Given the description of an element on the screen output the (x, y) to click on. 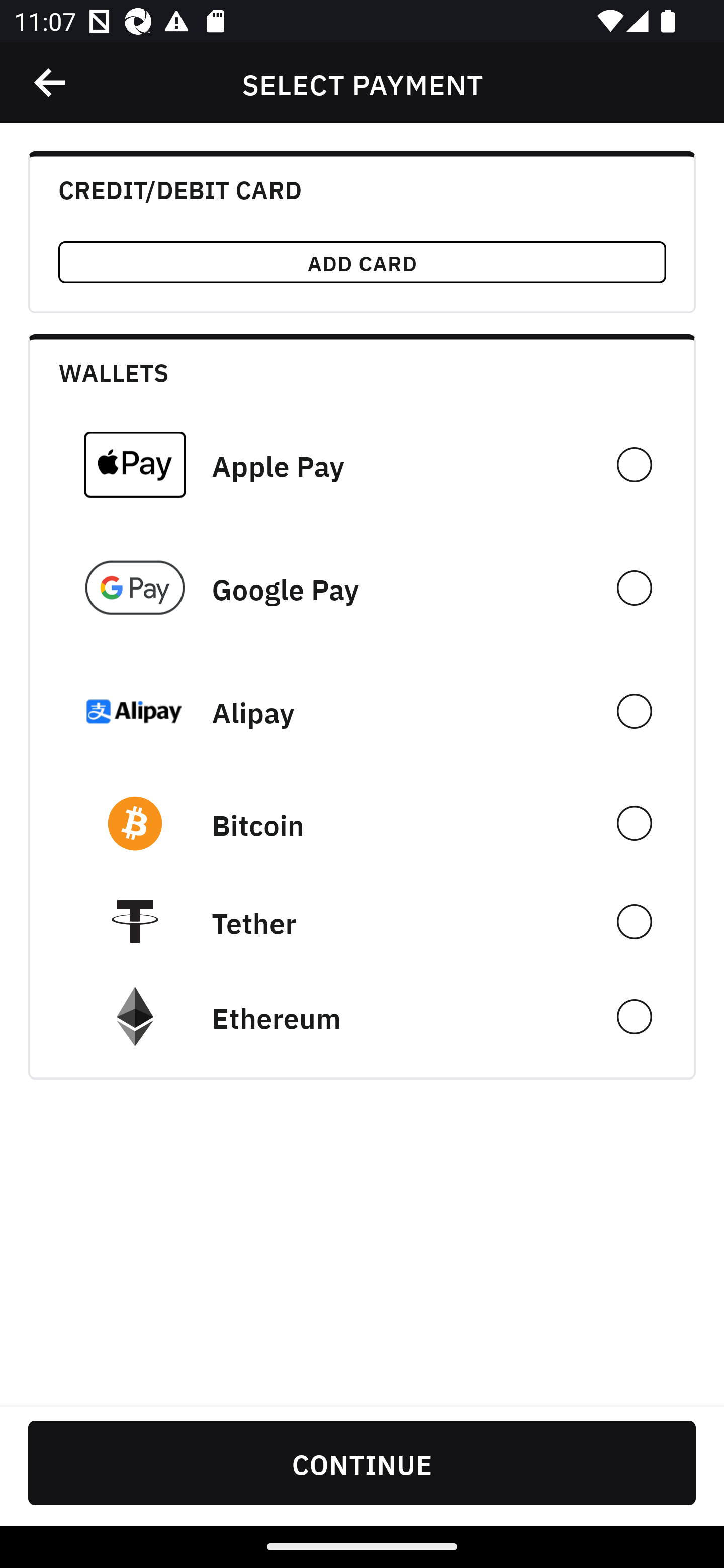
 (50, 83)
ADD CARD (362, 262)
Apple Pay (362, 464)
Google Pay (362, 587)
Alipay (362, 711)
󰠓 Bitcoin (362, 823)
Tether (362, 921)
Ethereum (362, 1016)
CONTINUE (361, 1462)
